Given the description of an element on the screen output the (x, y) to click on. 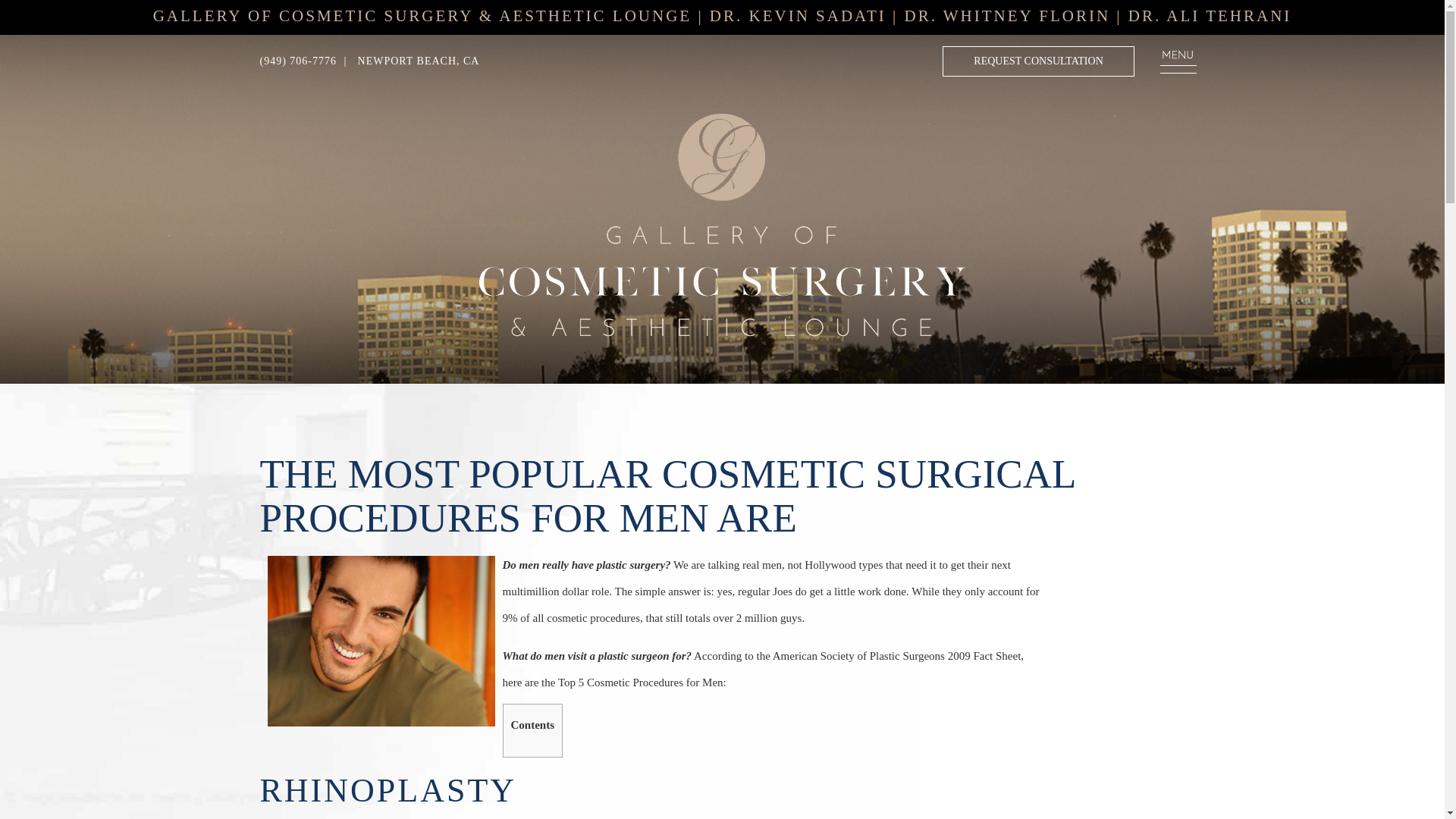
DR. ALI TEHRANI (1210, 15)
DR. WHITNEY FLORIN (1006, 15)
DR. KEVIN SADATI (798, 15)
REQUEST CONSULTATION (1038, 60)
NEWPORT BEACH, CA (416, 60)
Search (21, 10)
